Given the description of an element on the screen output the (x, y) to click on. 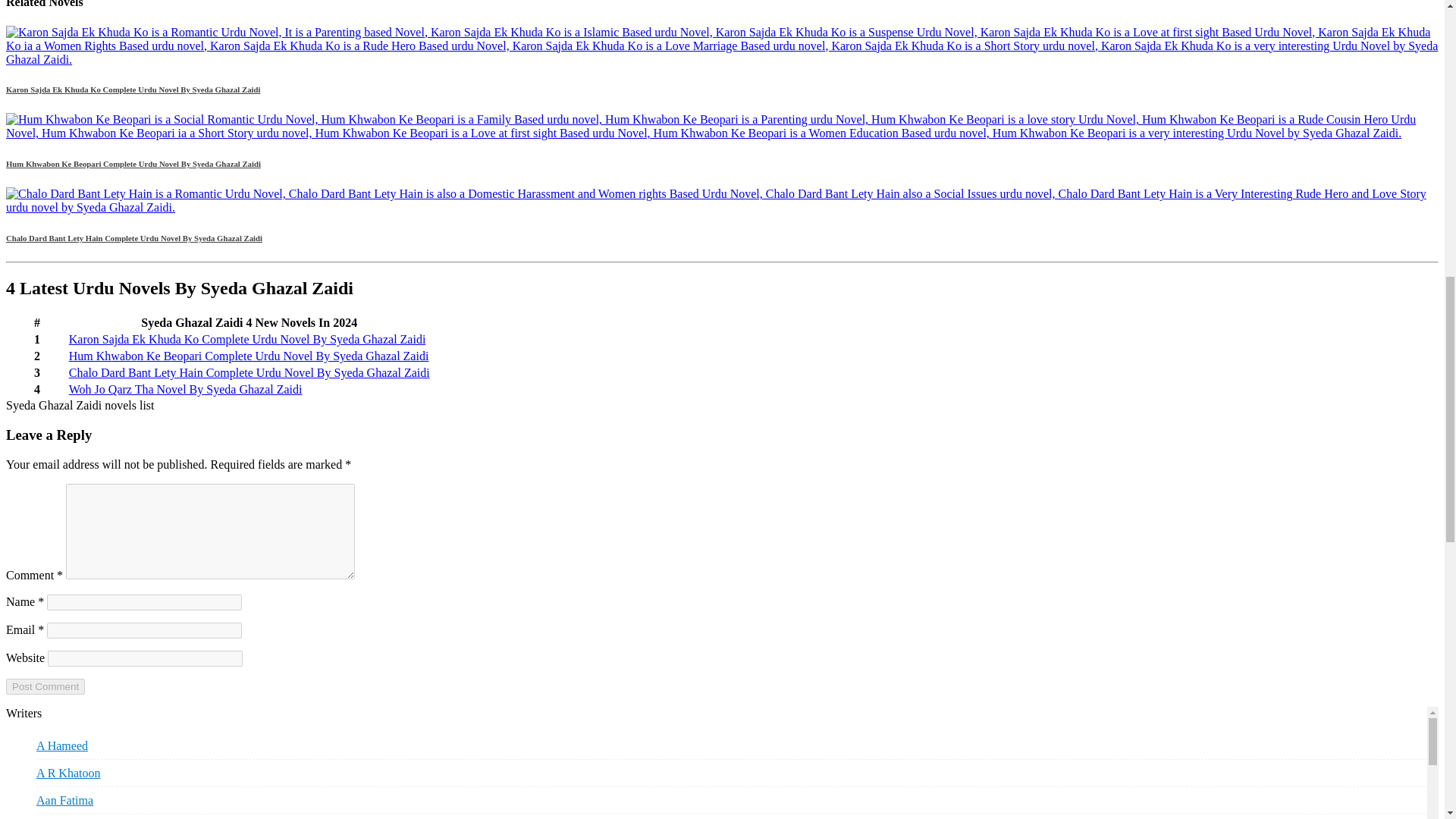
Post Comment (44, 686)
Woh Jo Qarz Tha Novel By Syeda Ghazal Zaidi (185, 389)
Aan Fatima (64, 800)
A Hameed (61, 745)
Aasiya Raees Khan (83, 816)
Post Comment (44, 686)
A R Khatoon (68, 773)
